Given the description of an element on the screen output the (x, y) to click on. 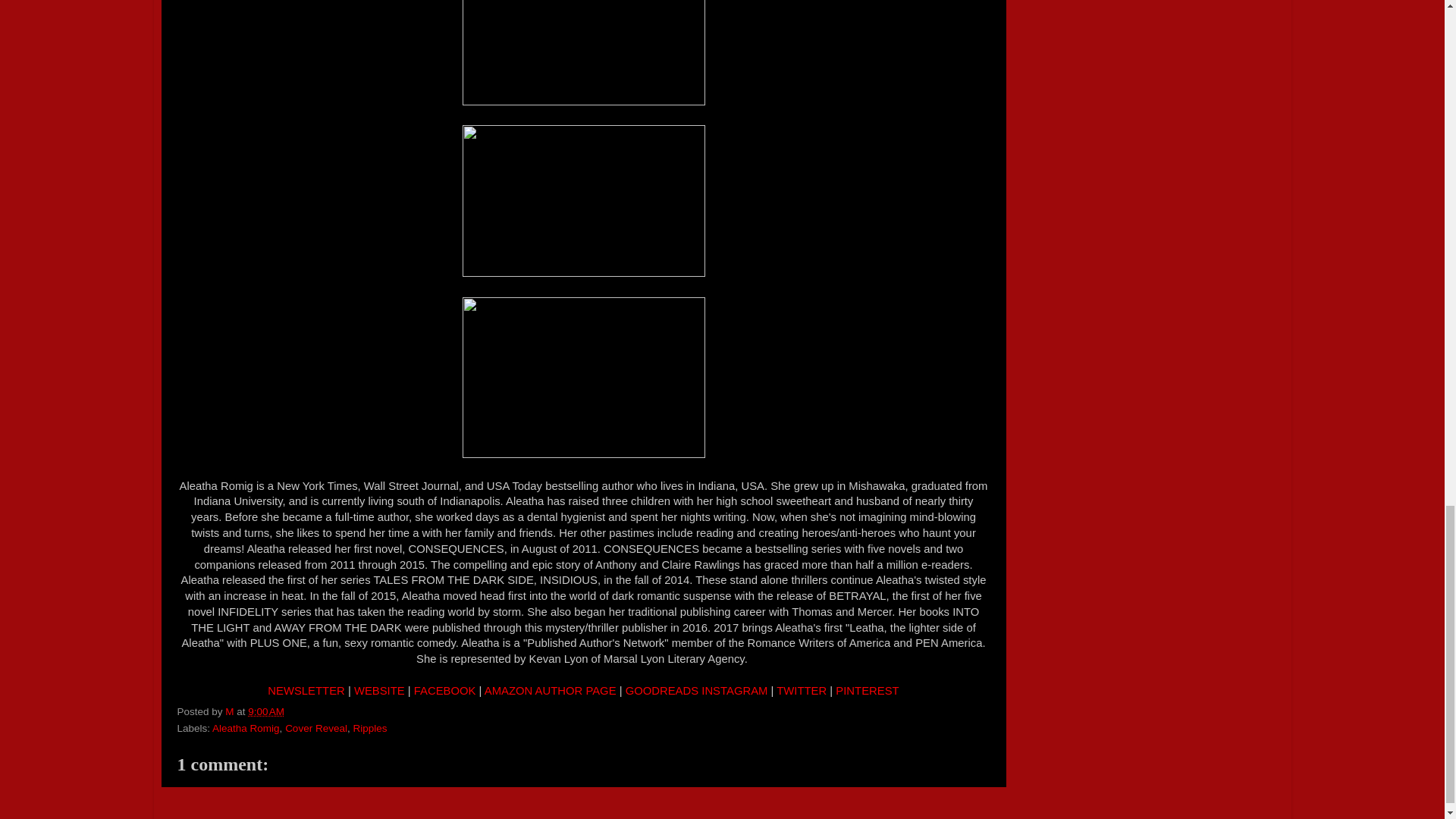
WEBSITE (378, 690)
Cover Reveal (316, 727)
FACEBOOK (444, 690)
author profile (230, 711)
TWITTER (801, 690)
Aleatha Romig (245, 727)
M (230, 711)
permanent link (265, 711)
INSTAGRAM (734, 690)
Ripples (369, 727)
PINTEREST (866, 690)
AMAZON AUTHOR PAGE (549, 690)
GOODREADS (662, 690)
NEWSLETTER (305, 690)
